Given the description of an element on the screen output the (x, y) to click on. 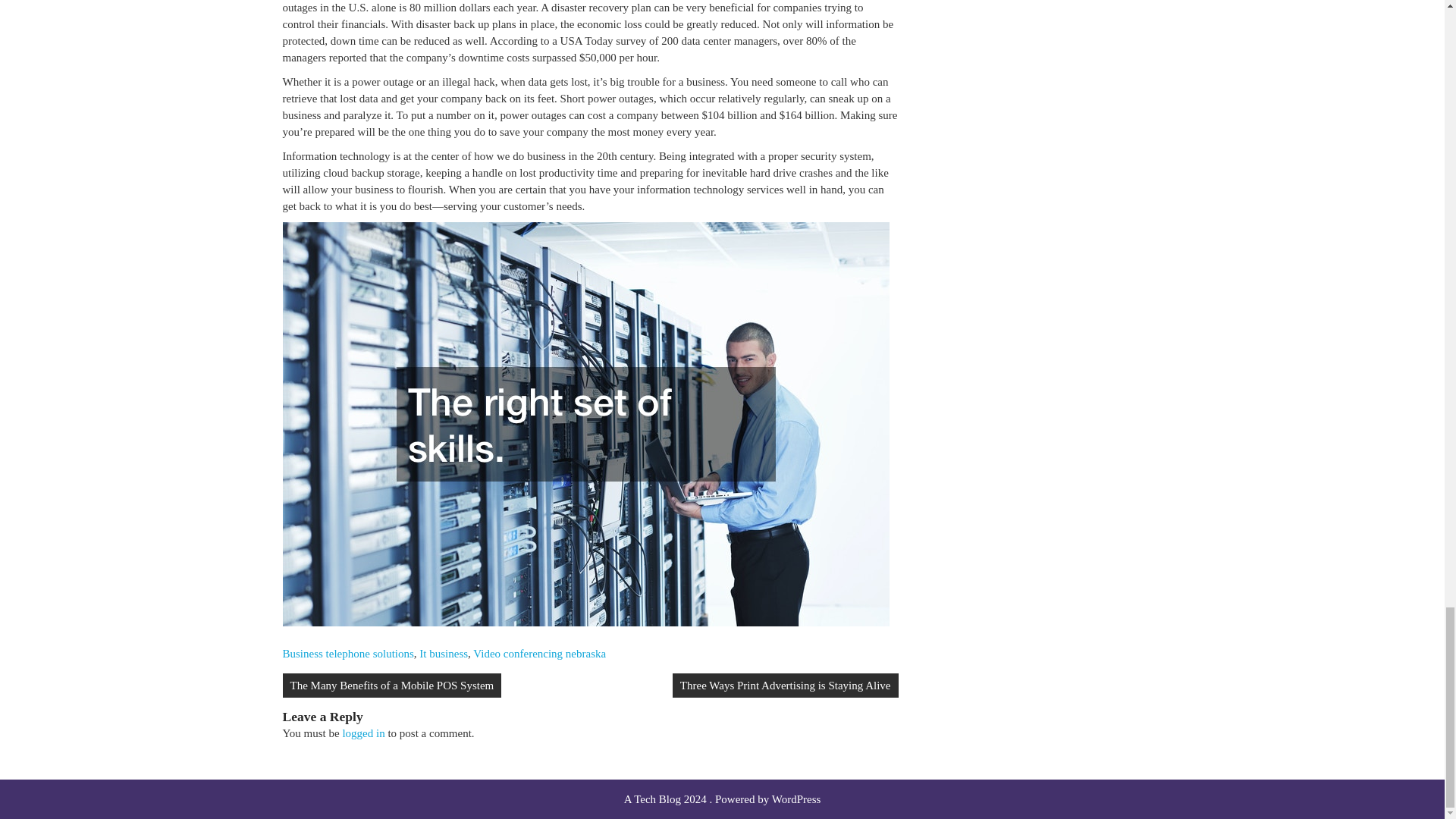
The Many Benefits of a Mobile POS System (391, 685)
It business (443, 653)
Three Ways Print Advertising is Staying Alive (785, 685)
A Tech Blog 2024 . Powered by WordPress (722, 799)
Business telephone solutions (347, 653)
Video conferencing nebraska (539, 653)
logged in (363, 733)
